Given the description of an element on the screen output the (x, y) to click on. 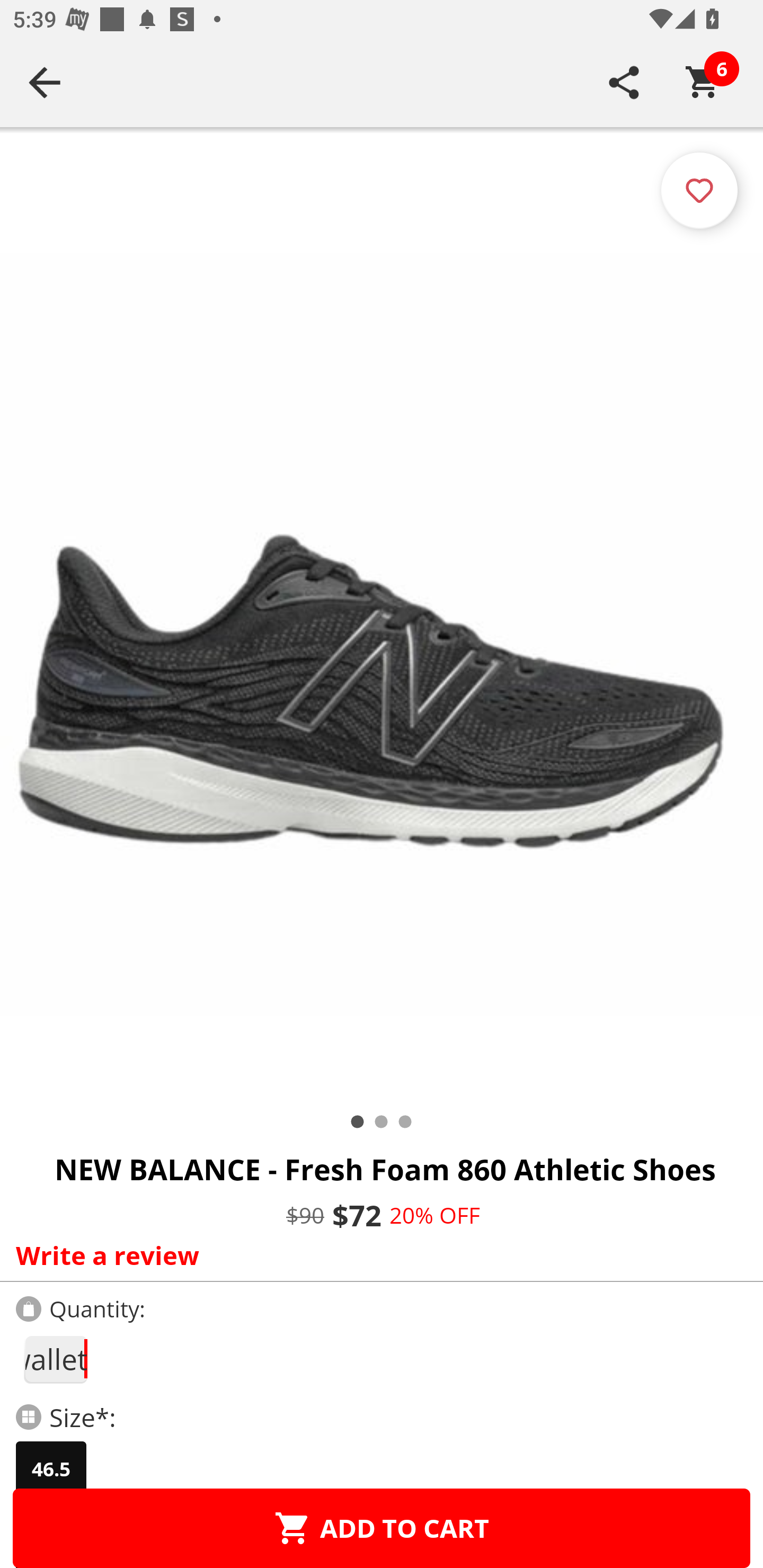
Navigate up (44, 82)
SHARE (623, 82)
Cart (703, 81)
Write a review (377, 1255)
1penwallet (55, 1358)
46.5 (51, 1468)
ADD TO CART (381, 1528)
